Given the description of an element on the screen output the (x, y) to click on. 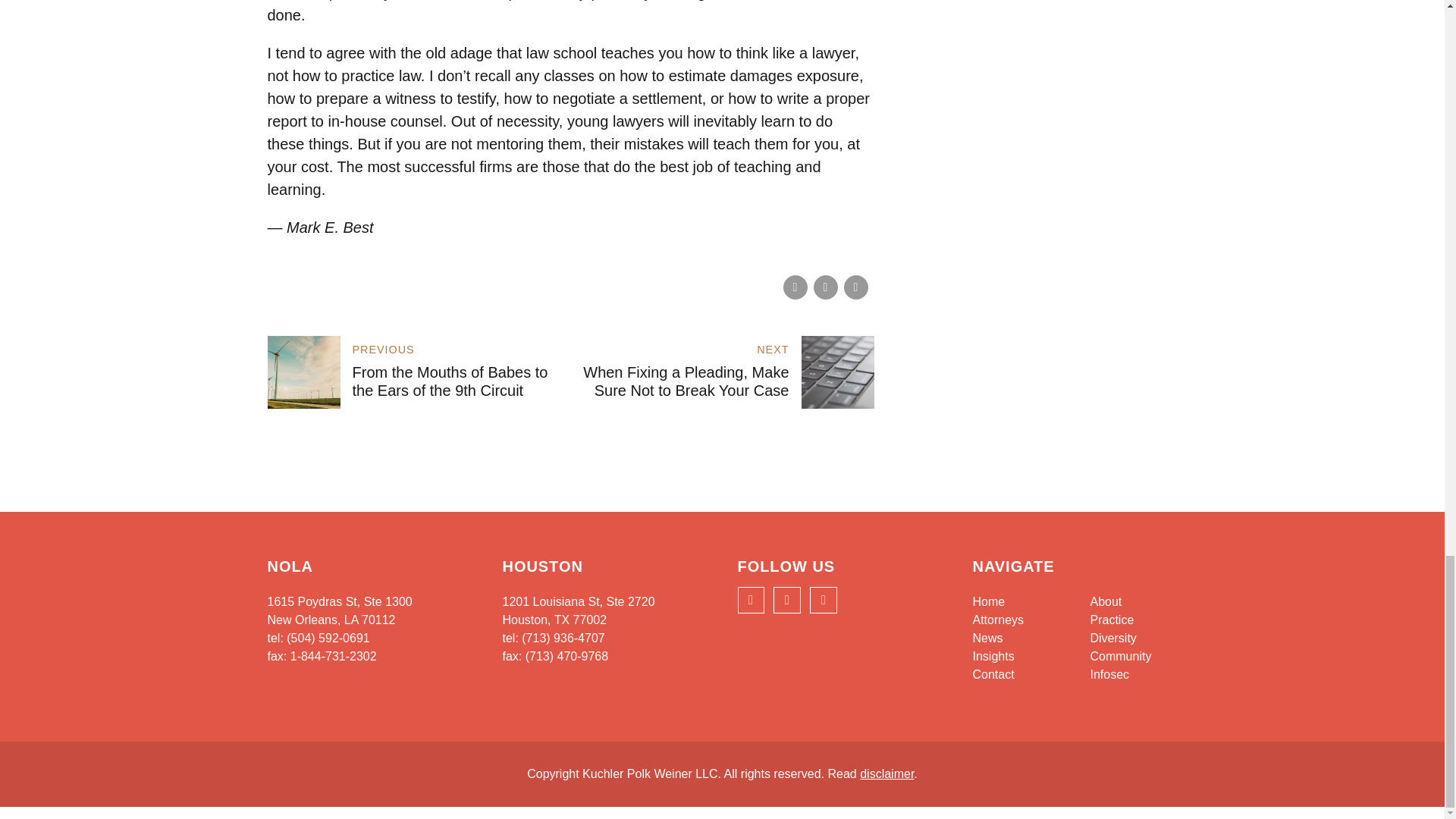
Attorneys (997, 619)
About (1106, 601)
Contact (992, 674)
Share on Linkedin (855, 287)
Share on Twitter (824, 287)
Share on Facebook (794, 287)
Home (988, 601)
News (987, 637)
